Given the description of an element on the screen output the (x, y) to click on. 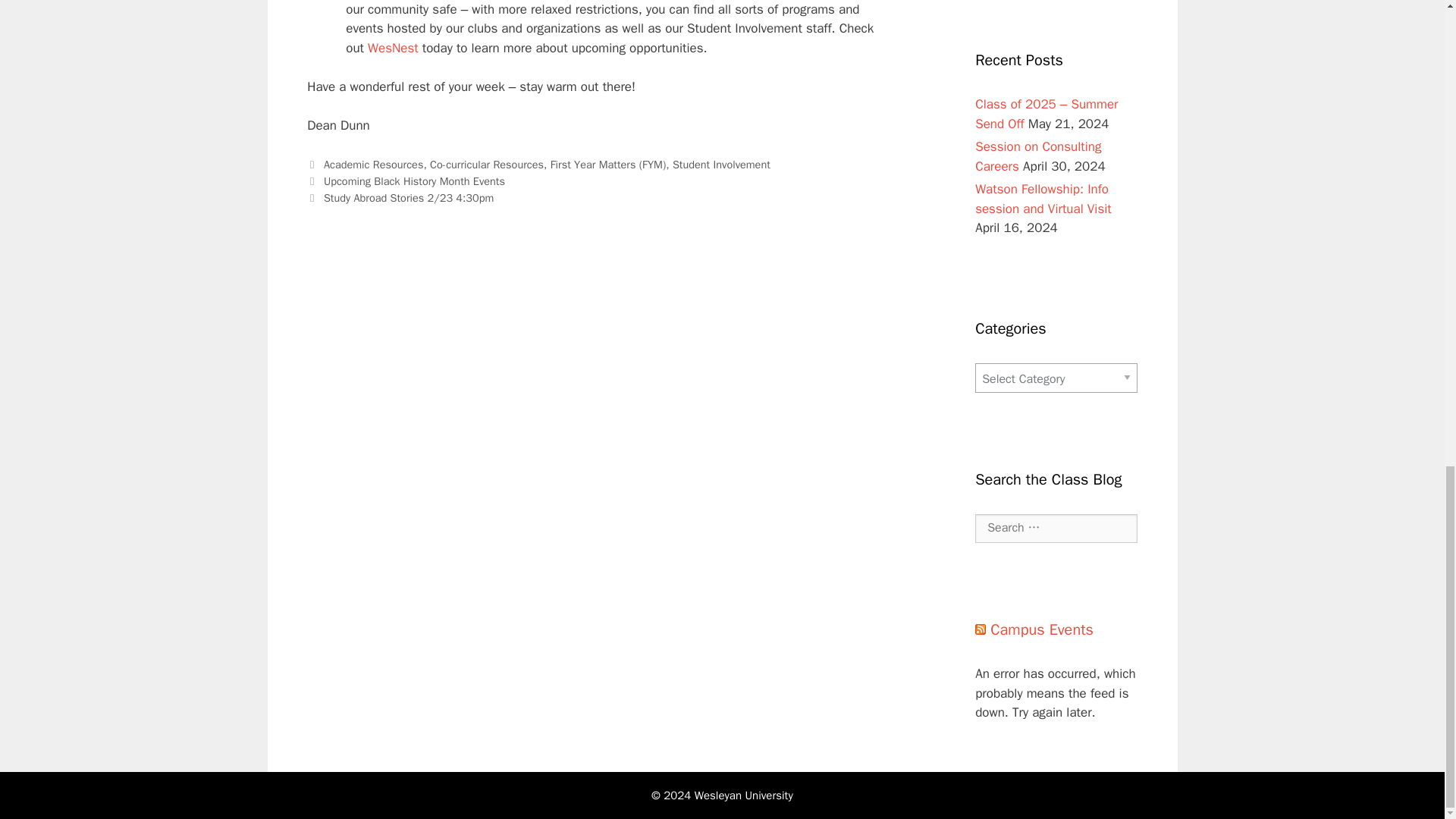
Search for: (1056, 528)
WesNest (393, 48)
Upcoming Black History Month Events (414, 181)
Academic Resources (373, 164)
Student Involvement (721, 164)
Co-curricular Resources (486, 164)
